Given the description of an element on the screen output the (x, y) to click on. 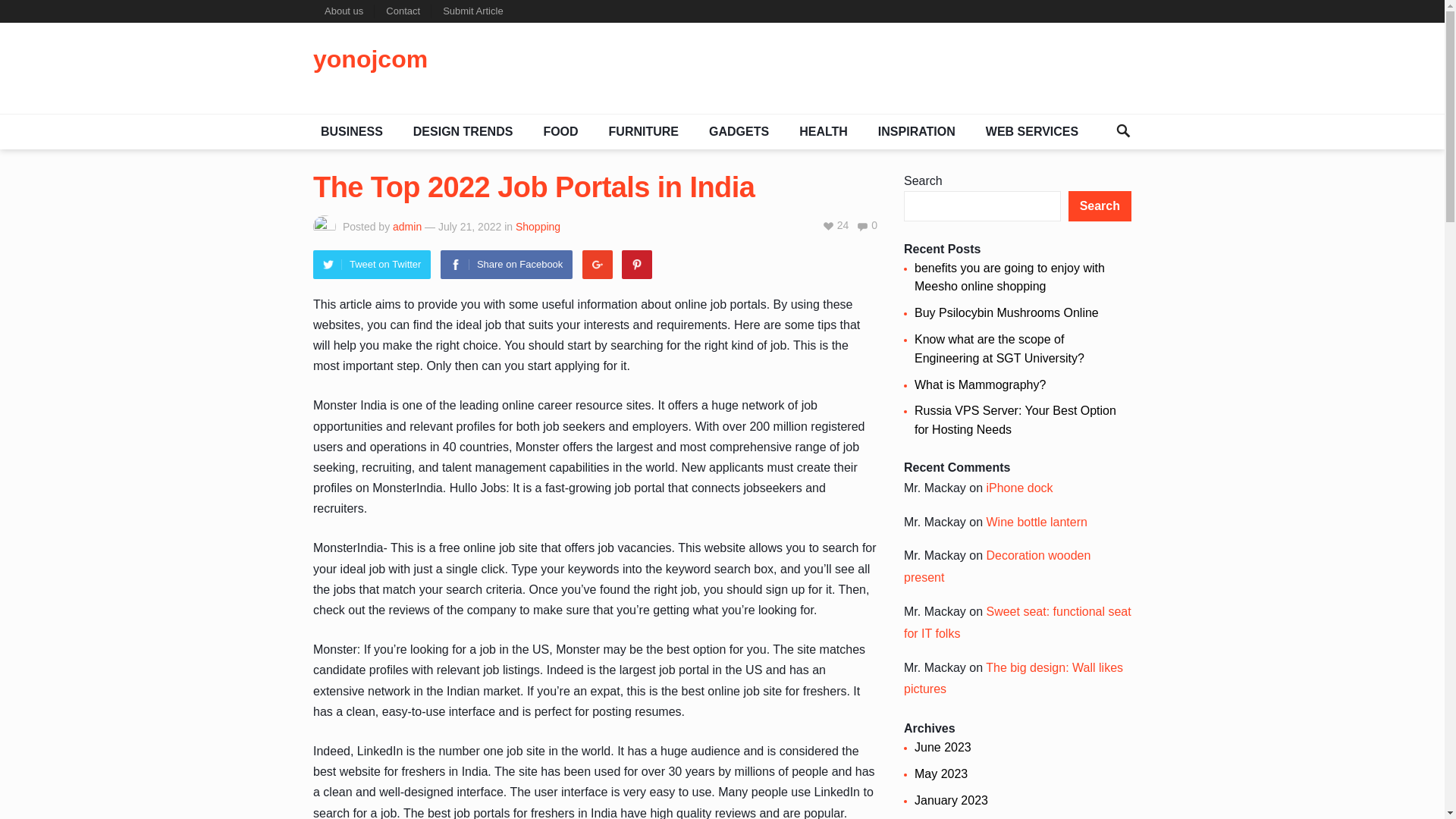
Shopping (537, 226)
Pinterest (636, 264)
24 (835, 224)
WEB SERVICES (1032, 131)
DESIGN TRENDS (463, 131)
Tweet on Twitter (371, 264)
HEALTH (824, 131)
GADGETS (738, 131)
admin (407, 226)
FURNITURE (643, 131)
